Given the description of an element on the screen output the (x, y) to click on. 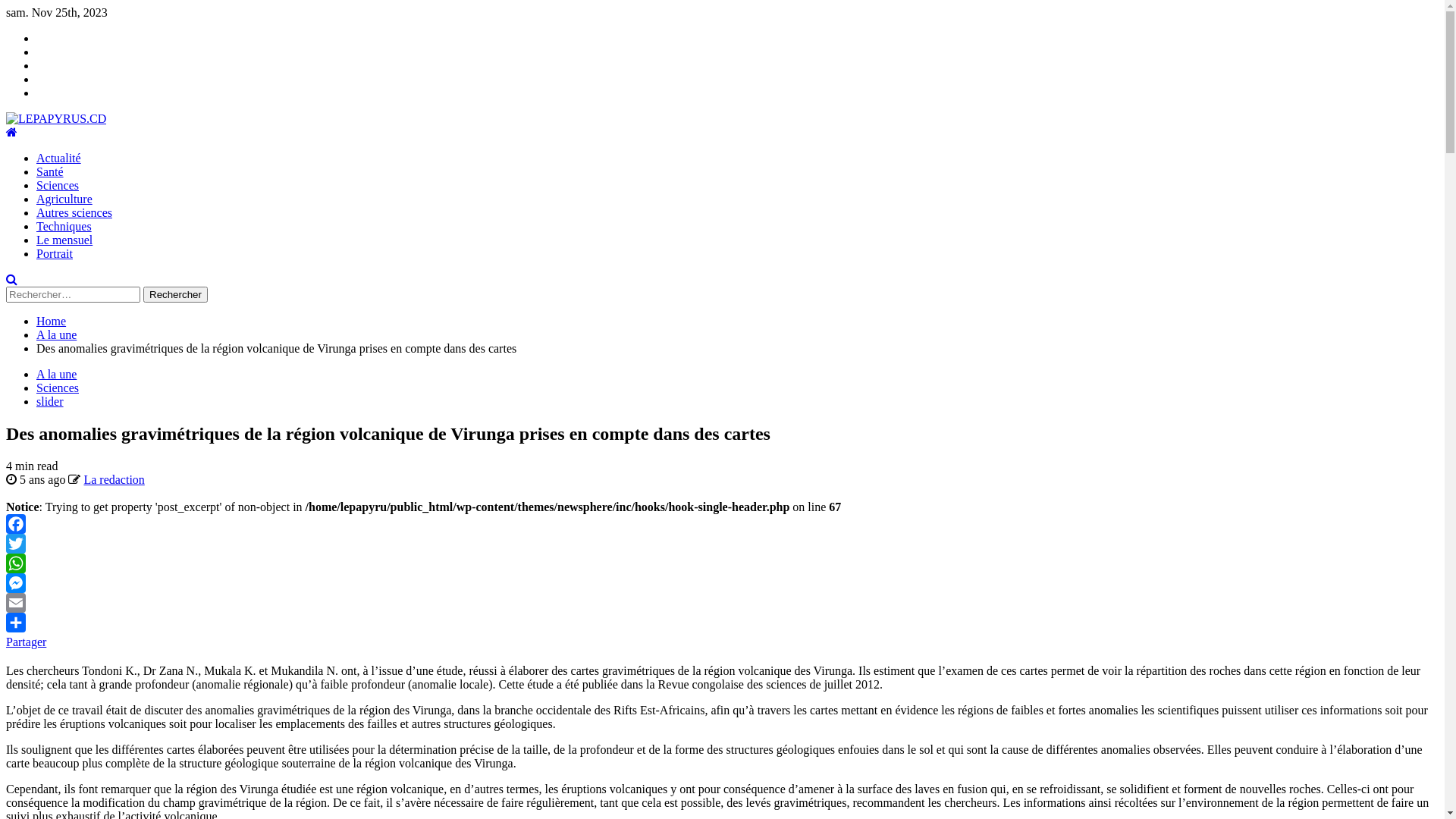
Sciences Element type: text (57, 184)
A la une Element type: text (56, 334)
Techniques Element type: text (63, 225)
Autres sciences Element type: text (74, 212)
La redaction Element type: text (113, 479)
Facebook Element type: text (722, 523)
Email Element type: text (722, 602)
Twitter Element type: text (722, 543)
Agriculture Element type: text (64, 198)
Le mensuel Element type: text (64, 239)
Rechercher Element type: text (175, 294)
Search Element type: hover (11, 279)
slider Element type: text (49, 401)
Partager Element type: text (722, 630)
Home Element type: text (50, 320)
Sciences Element type: text (57, 387)
Portrait Element type: text (54, 253)
Messenger Element type: text (722, 583)
A la une Element type: text (56, 373)
Skip to content Element type: text (5, 5)
WhatsApp Element type: text (722, 563)
